Given the description of an element on the screen output the (x, y) to click on. 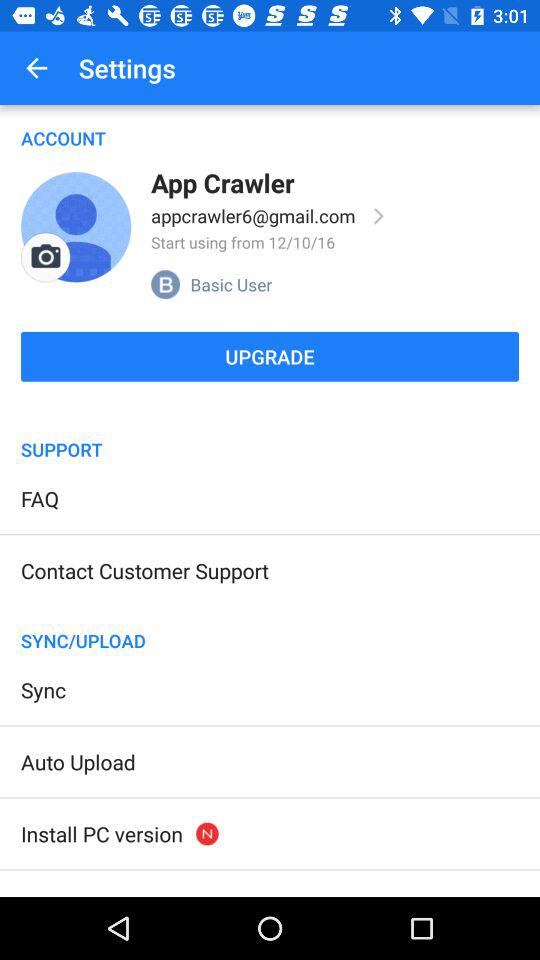
press the icon below the account icon (45, 257)
